Given the description of an element on the screen output the (x, y) to click on. 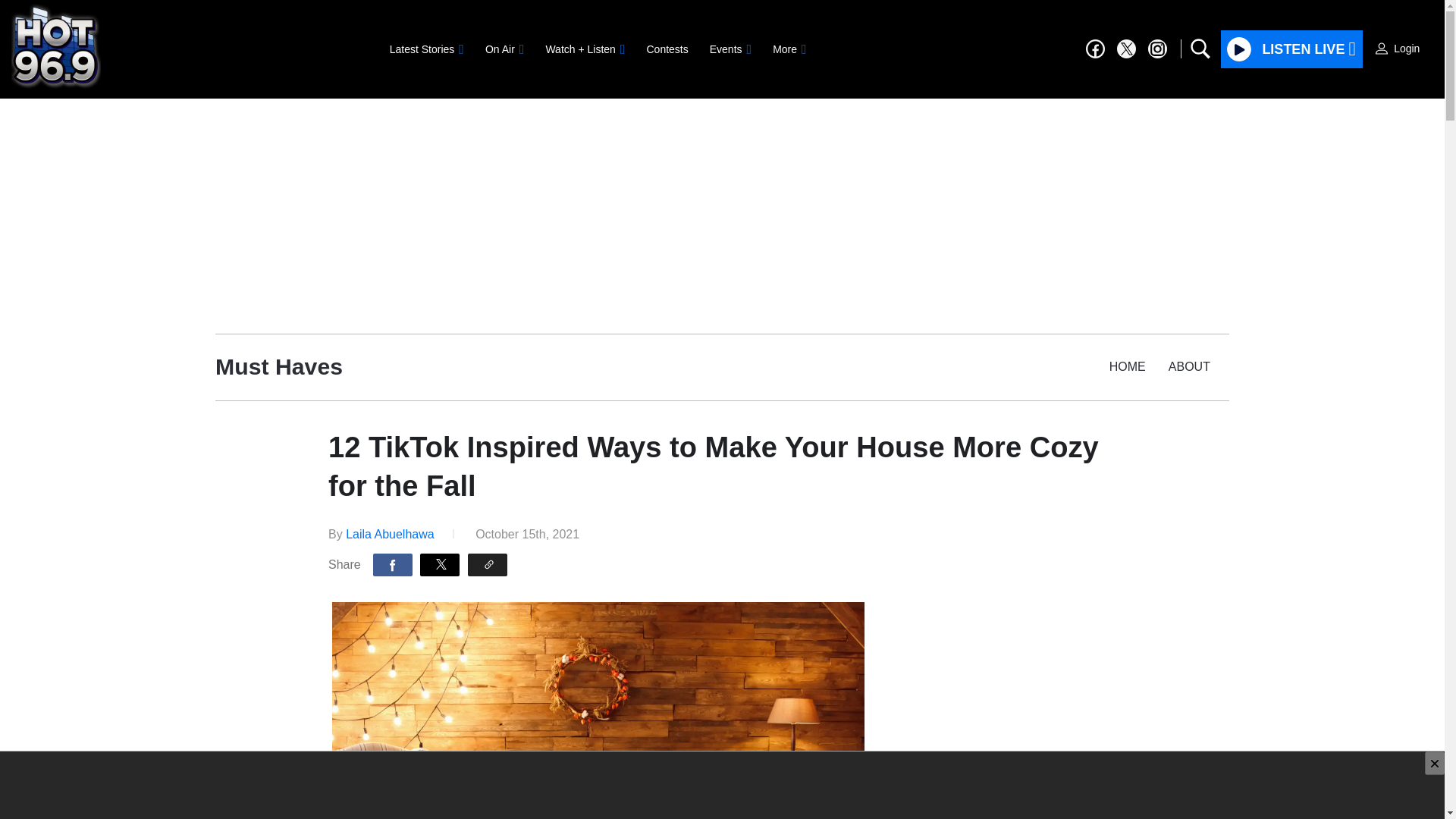
On Air (504, 49)
Contests (666, 49)
Events (729, 49)
Close AdCheckmark indicating ad close (1434, 763)
Laila Abuelhawa (389, 533)
Latest Stories (426, 49)
